Given the description of an element on the screen output the (x, y) to click on. 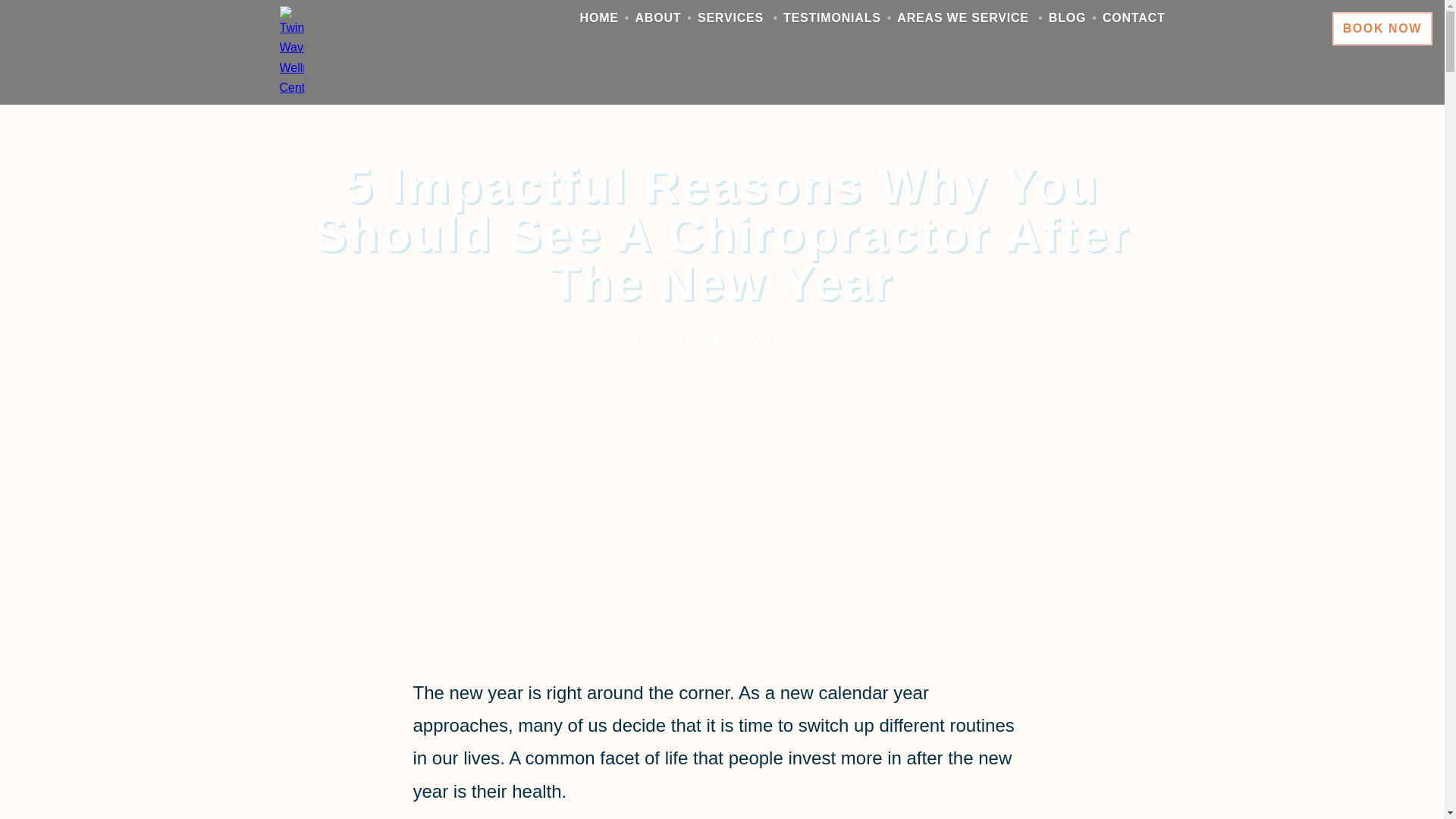
ABOUT (657, 18)
CONTACT (1134, 18)
HOME (598, 18)
SERVICES (729, 18)
BLOG (1067, 18)
AREAS WE SERVICE (961, 18)
TESTIMONIALS (831, 18)
